Given the description of an element on the screen output the (x, y) to click on. 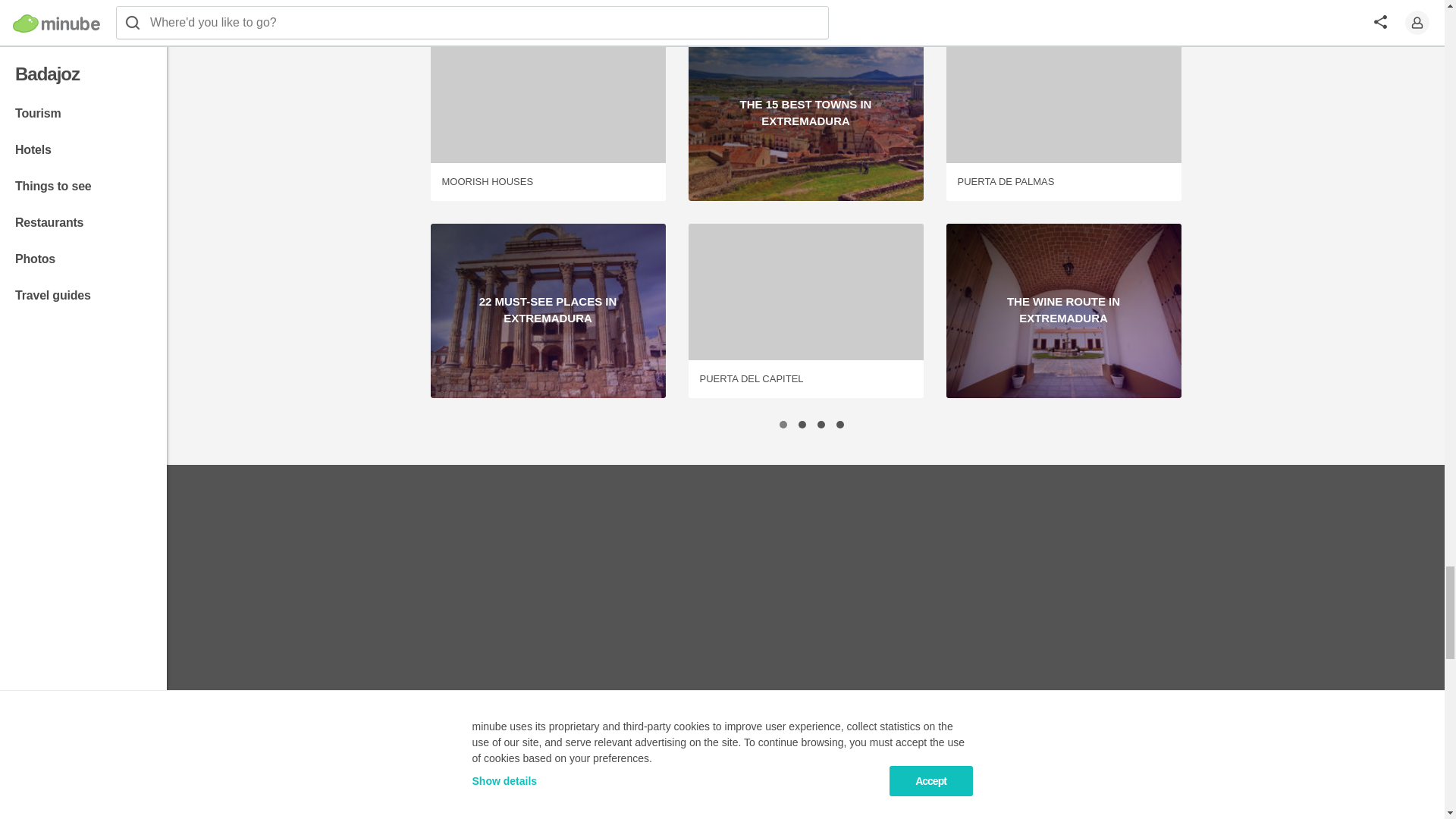
PUERTA DEL CAPITEL (804, 378)
MOORISH HOUSES (547, 182)
PUERTA DE PALMAS (1062, 182)
